Given the description of an element on the screen output the (x, y) to click on. 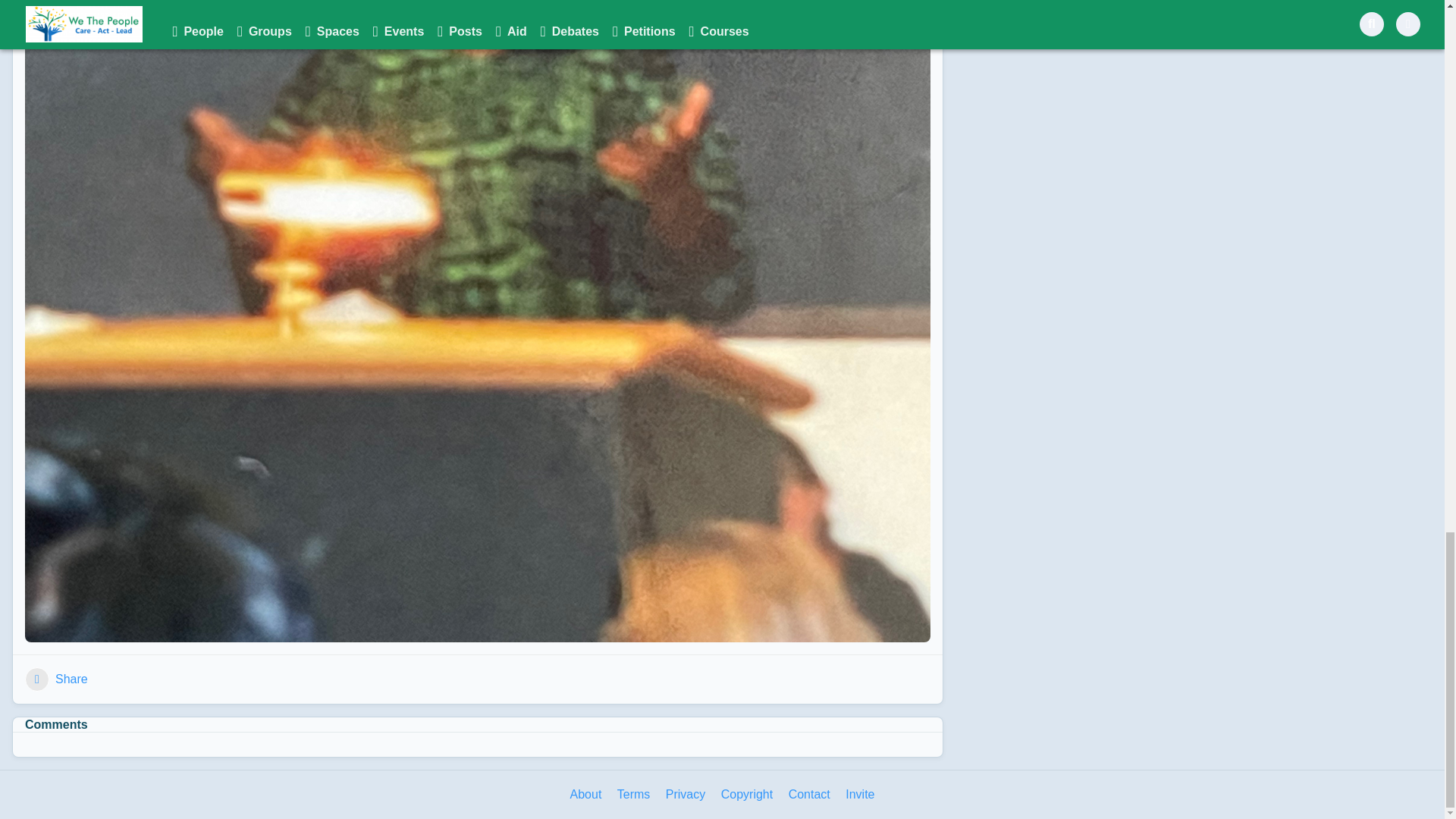
Terms (633, 794)
About (586, 794)
Contact (809, 794)
Share (55, 679)
About (586, 794)
Terms (633, 794)
Invite (860, 794)
Privacy (684, 794)
Contact (809, 794)
Share (55, 679)
